Given the description of an element on the screen output the (x, y) to click on. 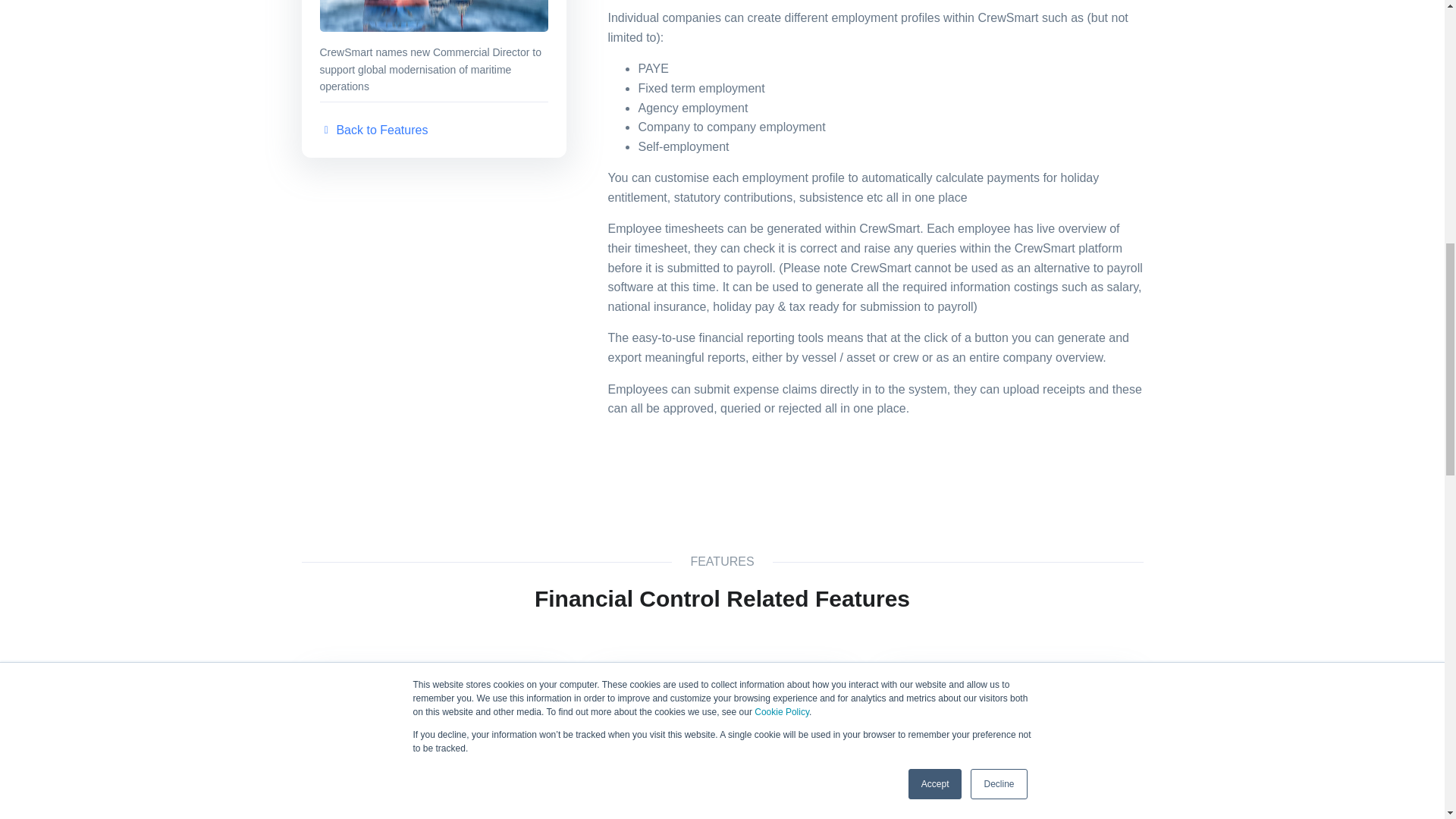
Link to Customer Management (722, 747)
Link to Employment Control (1010, 747)
Link to Automated Timesheets (434, 747)
